Given the description of an element on the screen output the (x, y) to click on. 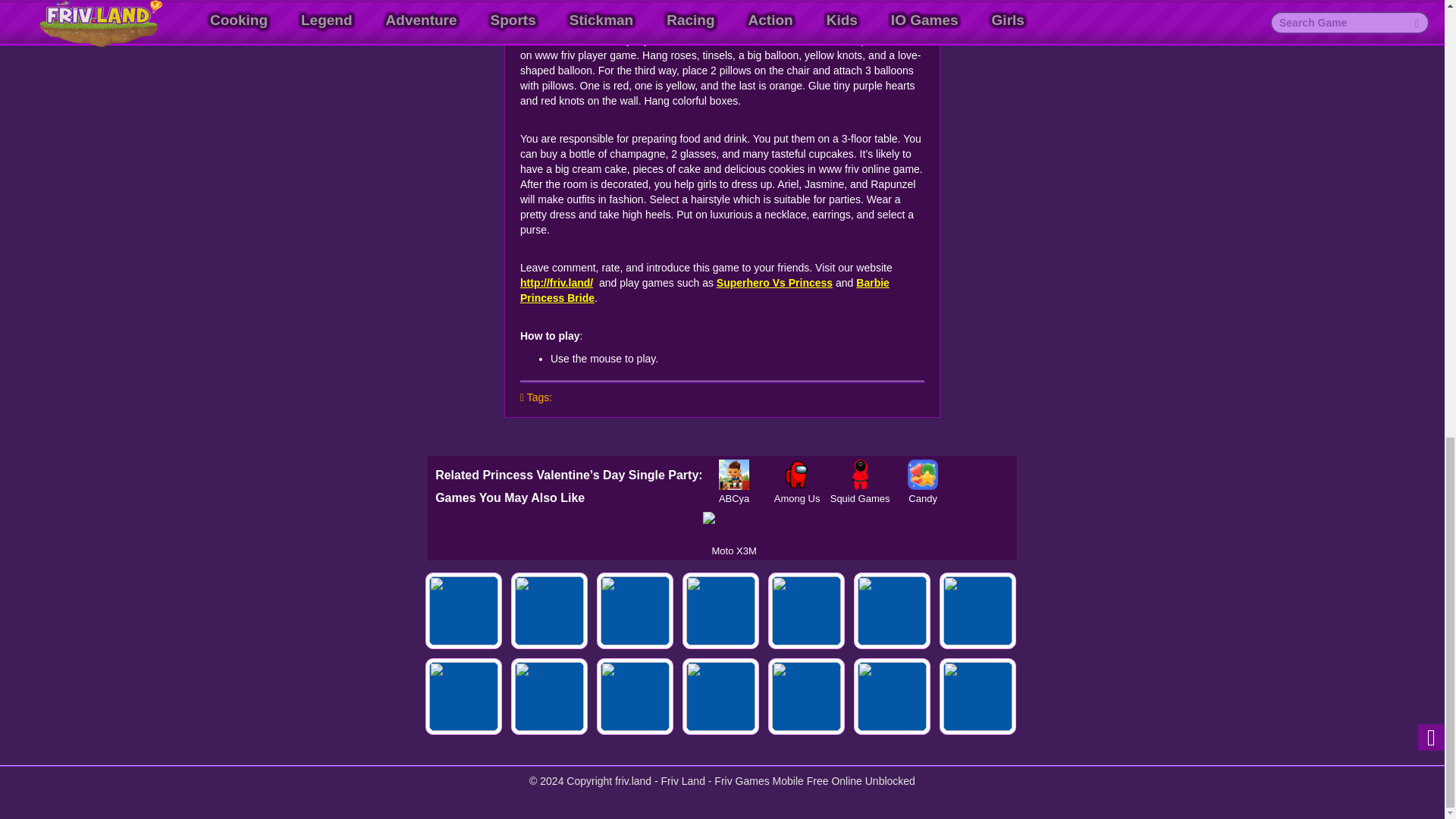
Princess In Minion Style (549, 610)
Among Us (796, 474)
Among Us (796, 474)
ABCya (734, 474)
Moto X3M (734, 526)
Candy (923, 474)
Squid Games (859, 474)
Superhero Vs Princess (774, 282)
ABCya (734, 474)
Squid Games (859, 474)
